Given the description of an element on the screen output the (x, y) to click on. 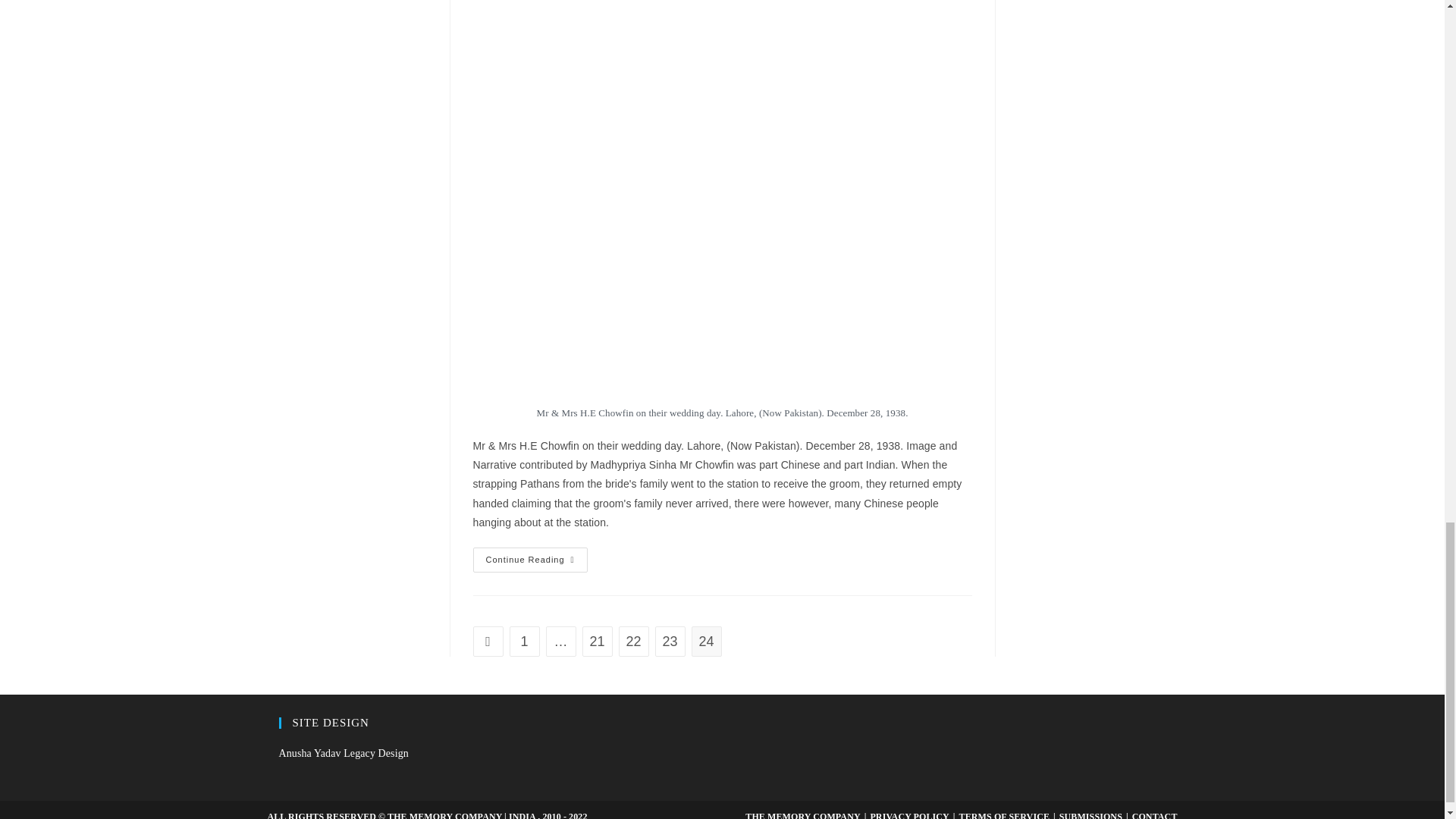
22 (633, 641)
1 (524, 641)
21 (597, 641)
23 (670, 641)
Go to the previous page (488, 641)
